Given the description of an element on the screen output the (x, y) to click on. 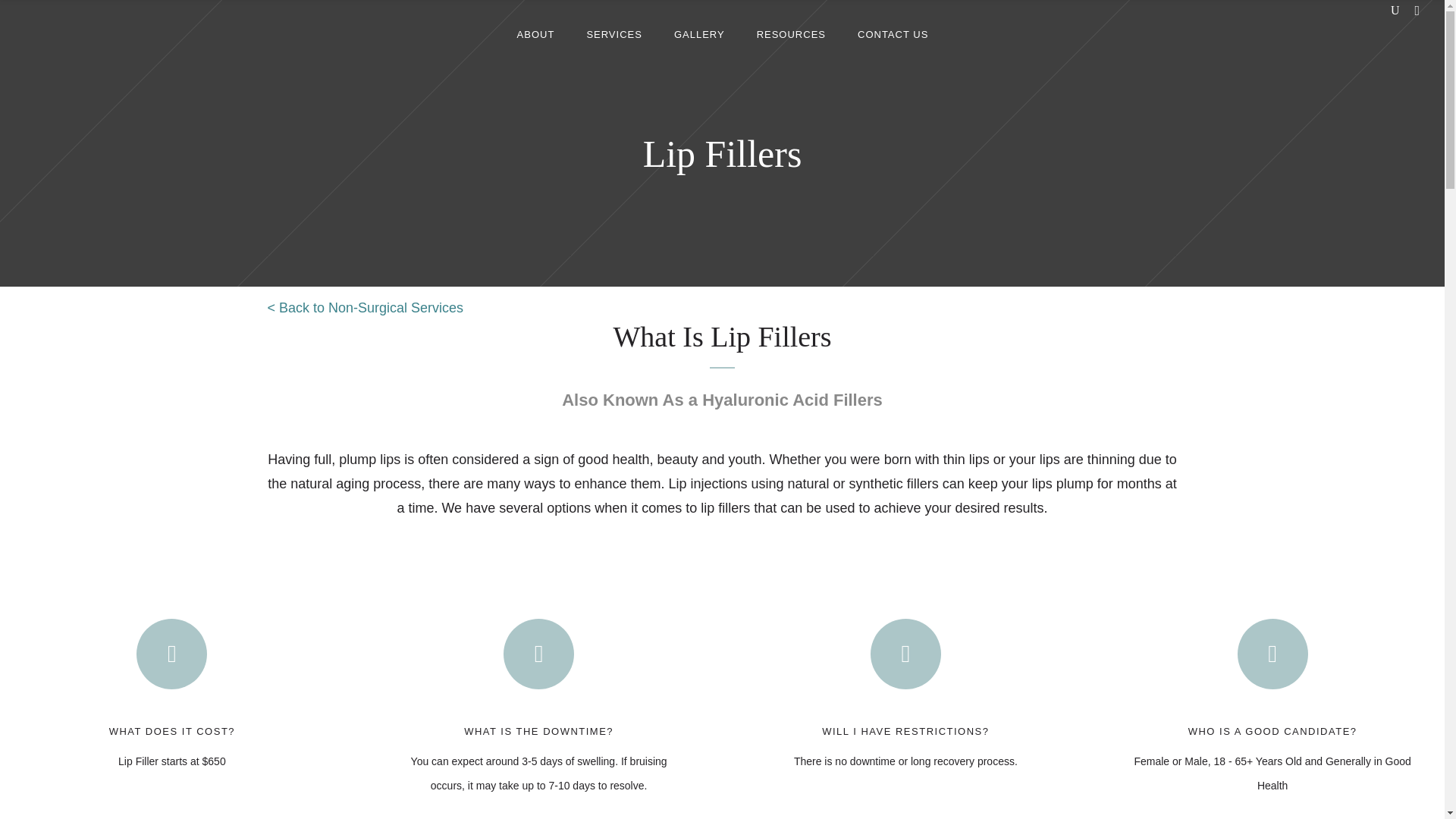
ABOUT (535, 33)
RESOURCES (791, 33)
SERVICES (614, 33)
GALLERY (699, 33)
CONTACT US (892, 33)
U (986, 413)
